Given the description of an element on the screen output the (x, y) to click on. 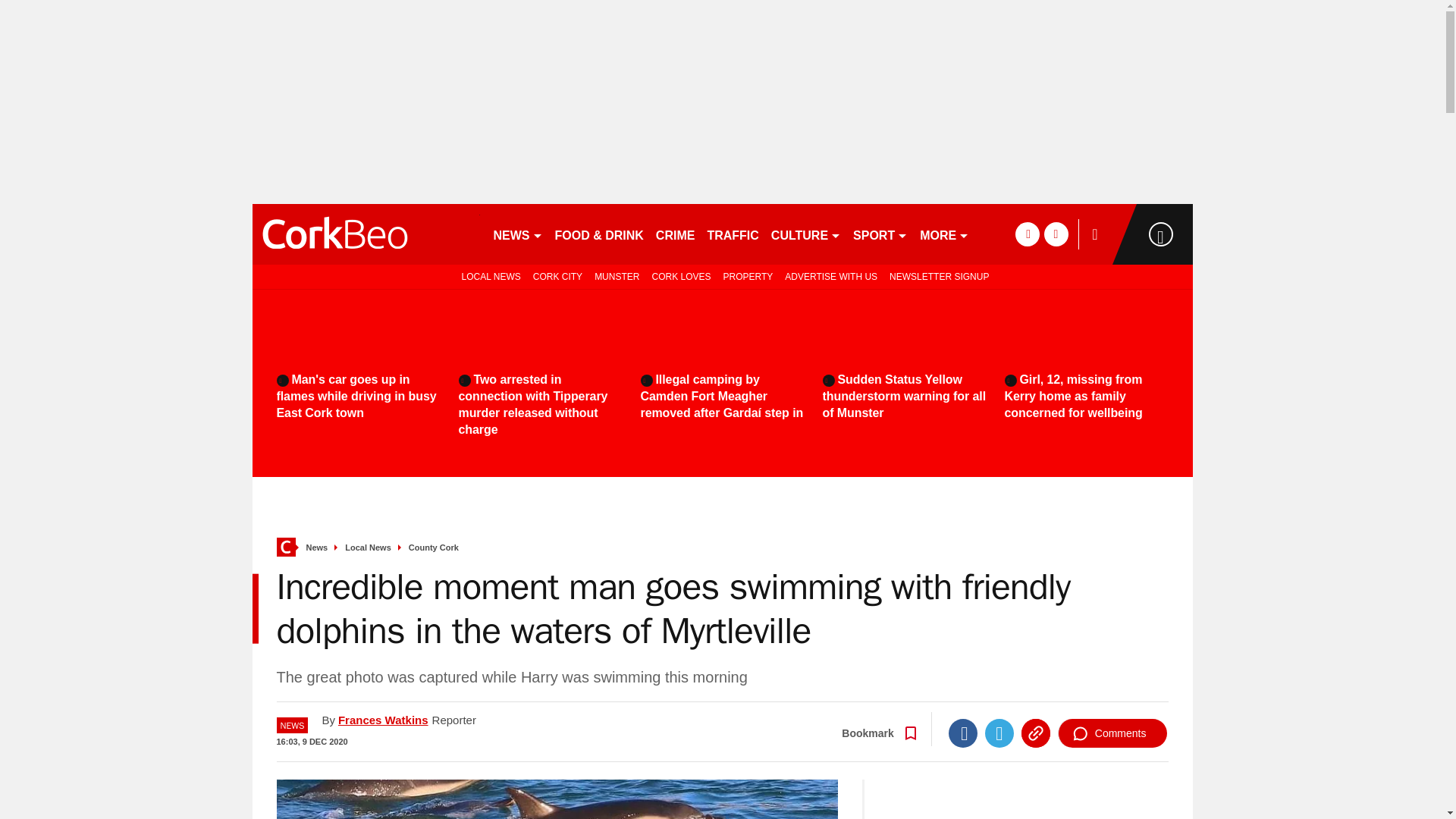
PROPERTY (747, 275)
ADVERTISE WITH US (830, 275)
twitter (1055, 233)
corklive (365, 233)
facebook (1026, 233)
Comments (1112, 733)
CORK LOVES (680, 275)
CULTURE (806, 233)
Facebook (962, 733)
NEWS (517, 233)
